Given the description of an element on the screen output the (x, y) to click on. 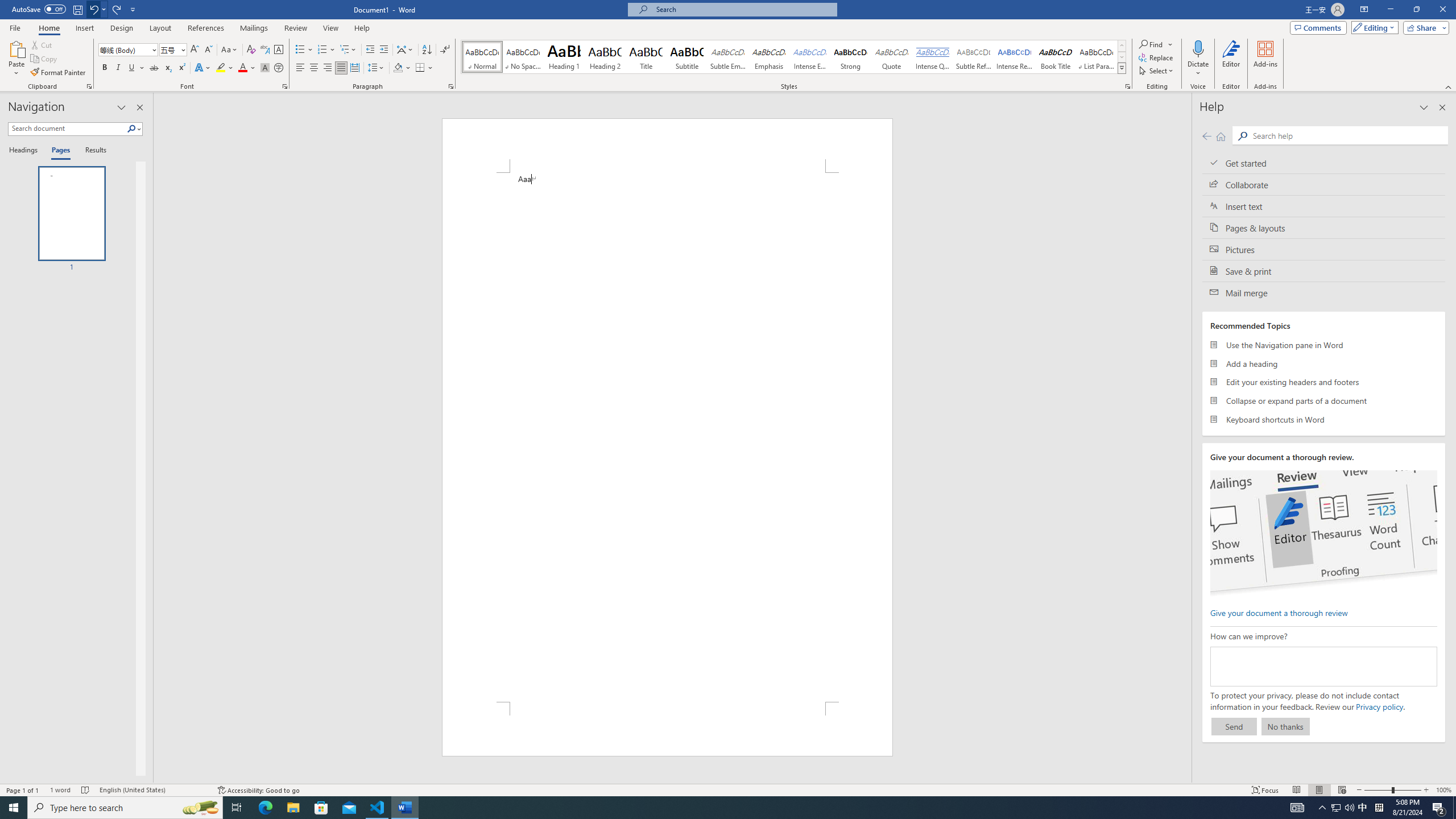
Cut (42, 44)
Redo Increase Indent (117, 9)
Copy (45, 58)
Ribbon Display Options (1364, 9)
Book Title (1055, 56)
Intense Quote (932, 56)
Line and Paragraph Spacing (376, 67)
Phonetic Guide... (264, 49)
Mode (1372, 27)
Replace... (1156, 56)
Microsoft search (742, 9)
Page 1 content (667, 436)
